Given the description of an element on the screen output the (x, y) to click on. 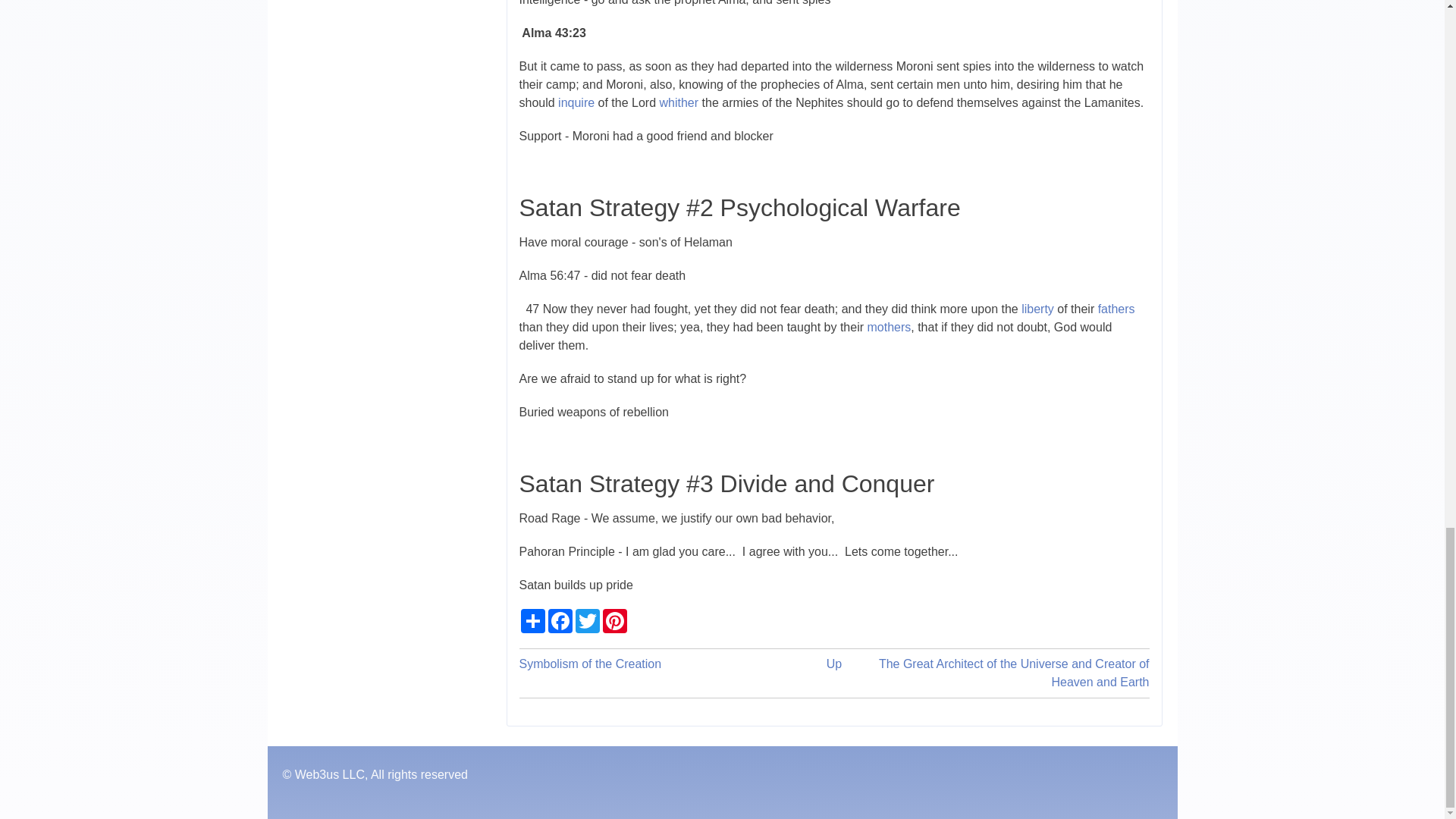
liberty (1038, 308)
whither (678, 102)
fathers (1116, 308)
mothers (888, 327)
inquire (575, 102)
